Given the description of an element on the screen output the (x, y) to click on. 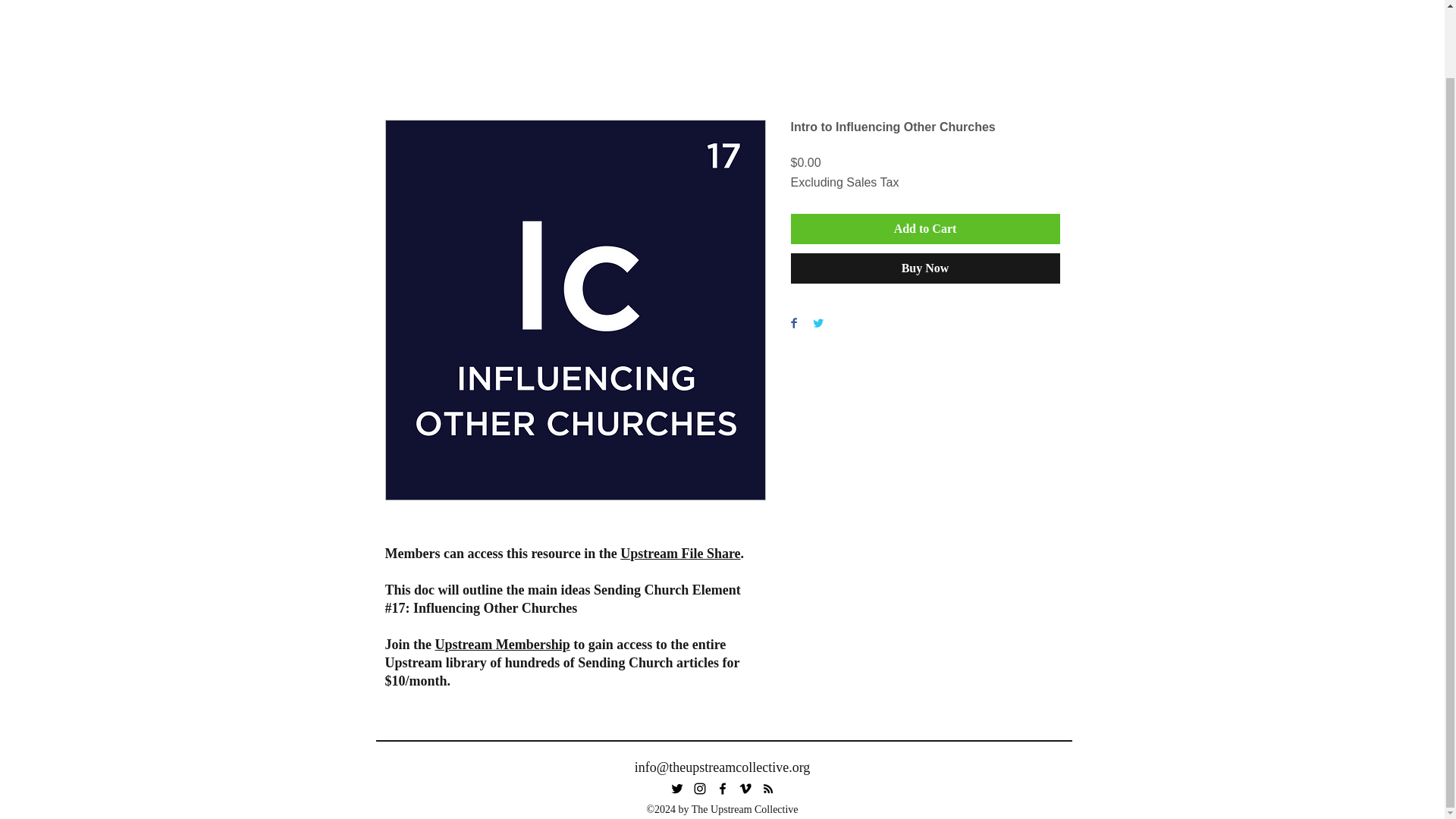
Add to Cart (924, 228)
Buy Now (924, 268)
Upstream File Share (679, 553)
Upstream Membership (502, 644)
